Given the description of an element on the screen output the (x, y) to click on. 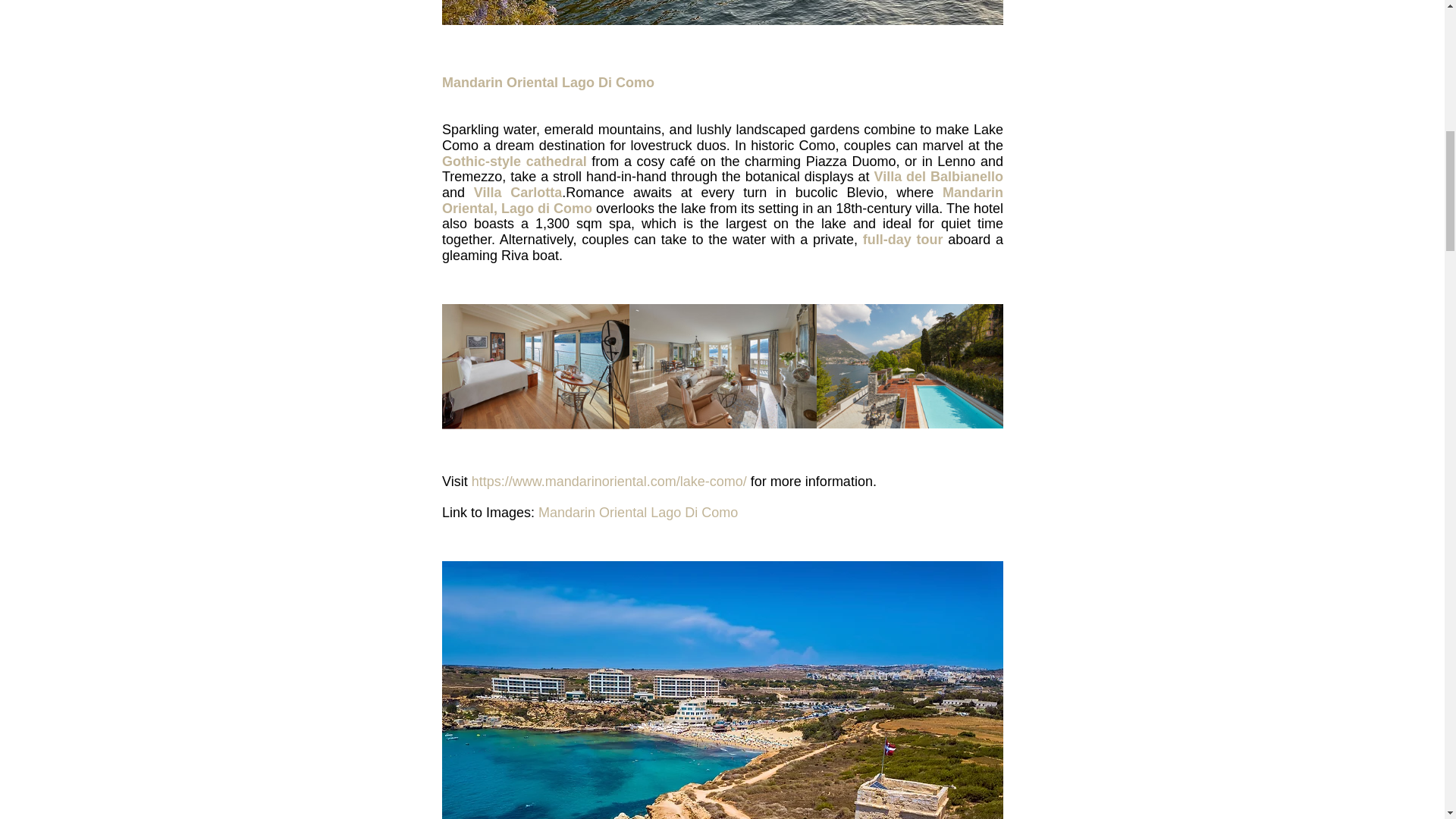
Villa del Balbianello (938, 176)
Villa Carlotta (516, 192)
full-day tour (901, 239)
Gothic-style cathedral (513, 160)
Mandarin Oriental Lago Di Como (638, 512)
Mandarin Oriental, Lago di Como (723, 200)
